Given the description of an element on the screen output the (x, y) to click on. 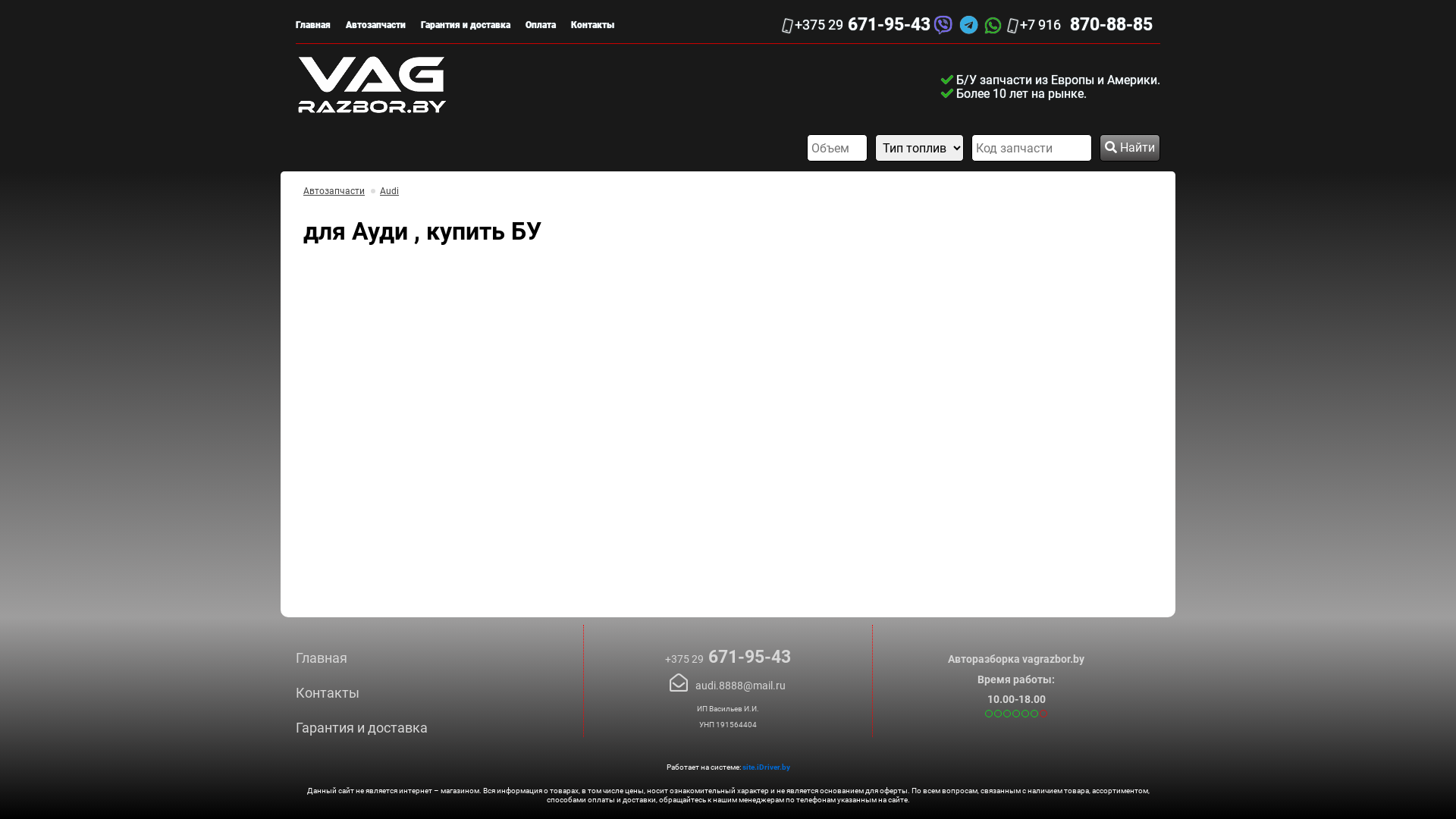
+375 29 671-95-43 Element type: text (727, 657)
 +375 29
 671-95-43 Element type: text (856, 24)
site.iDriver.by Element type: text (765, 766)
 +7 916
  870-88-85 Element type: text (1080, 24)
Audi Element type: text (388, 190)
audi.8888@mail.ru Element type: text (727, 682)
